Given the description of an element on the screen output the (x, y) to click on. 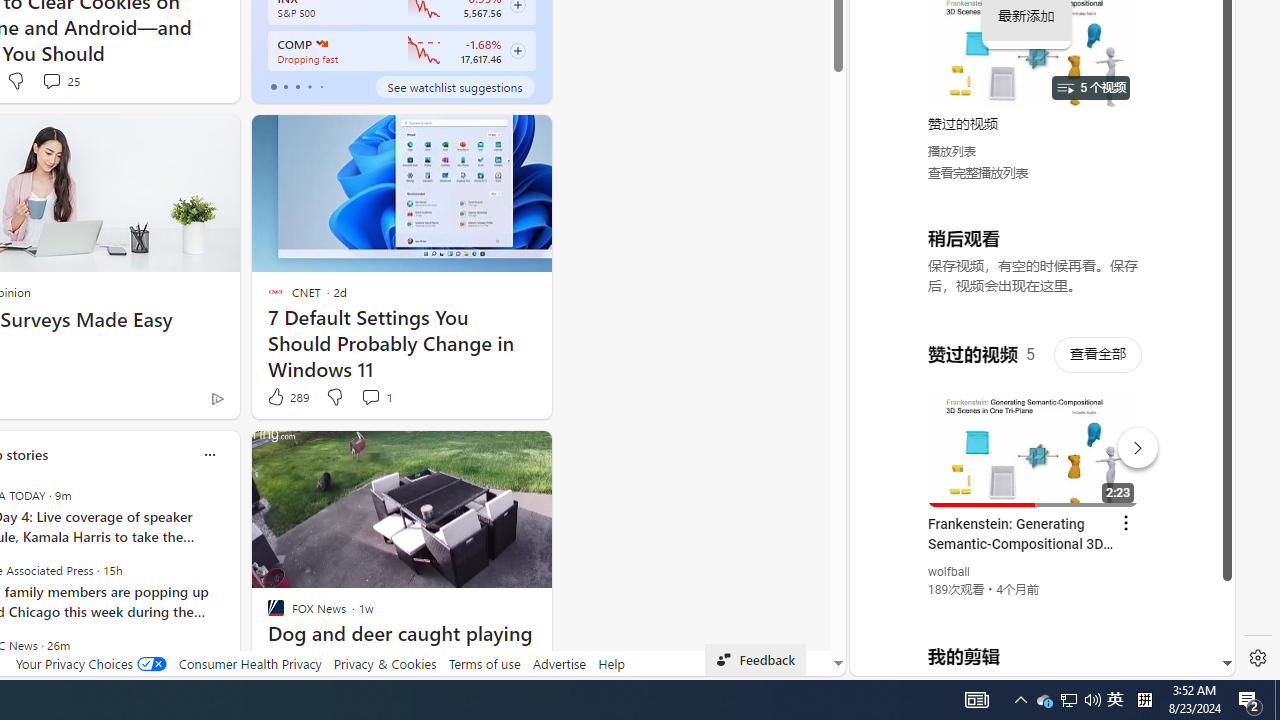
tab-0 (273, 86)
wolfball (949, 572)
Class: dict_pnIcon rms_img (1028, 660)
